Given the description of an element on the screen output the (x, y) to click on. 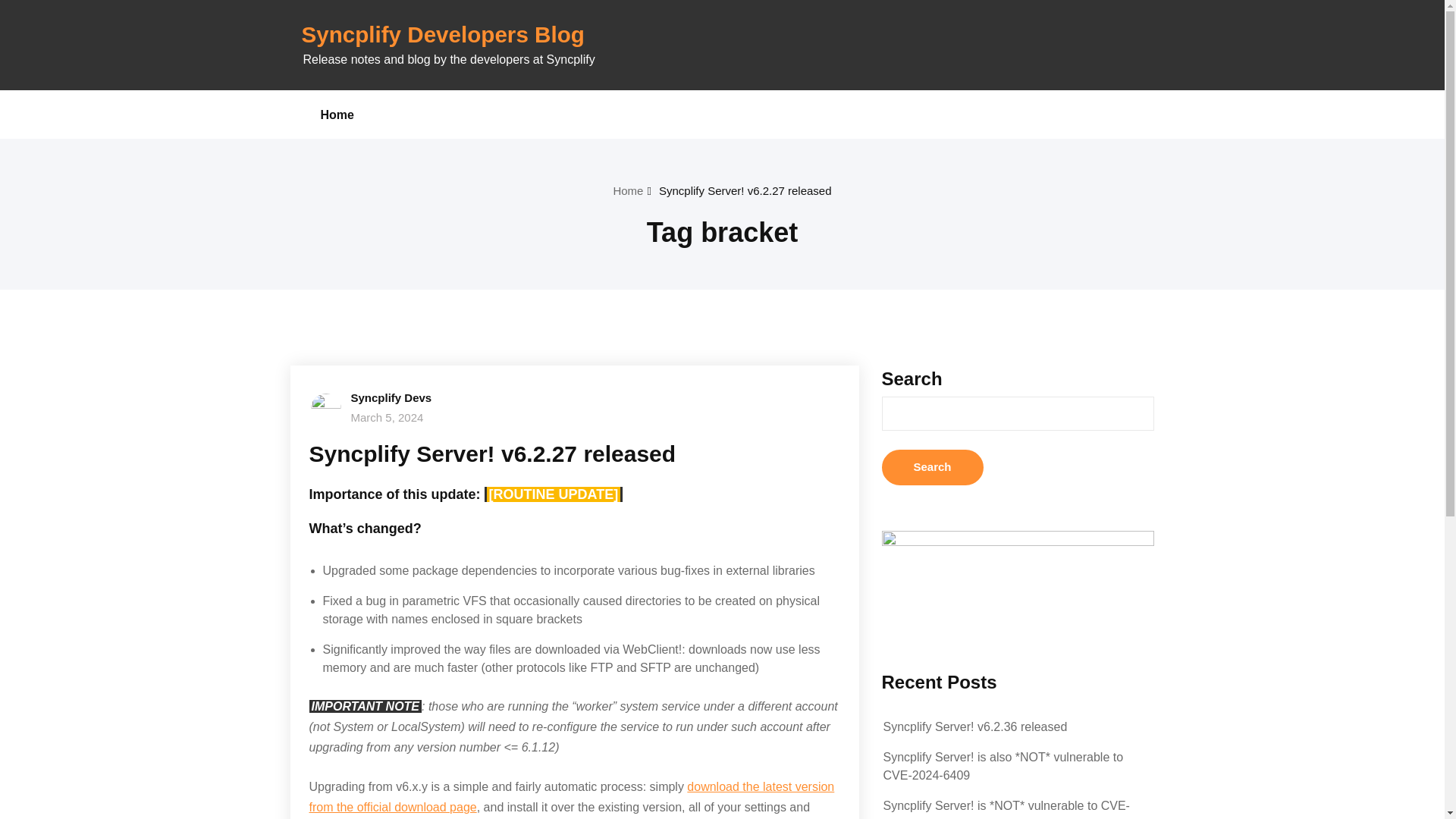
Syncplify Devs (390, 397)
Home (627, 190)
March 5, 2024 (386, 417)
Syncplify Server! v6.2.36 released (974, 726)
Syncplify Server! v6.2.27 released (492, 453)
download the latest version from the official download page (571, 797)
Search (931, 467)
Home (336, 114)
Home (336, 114)
Syncplify Developers Blog (443, 34)
Syncplify Server! v6.2.27 released (745, 190)
